Given the description of an element on the screen output the (x, y) to click on. 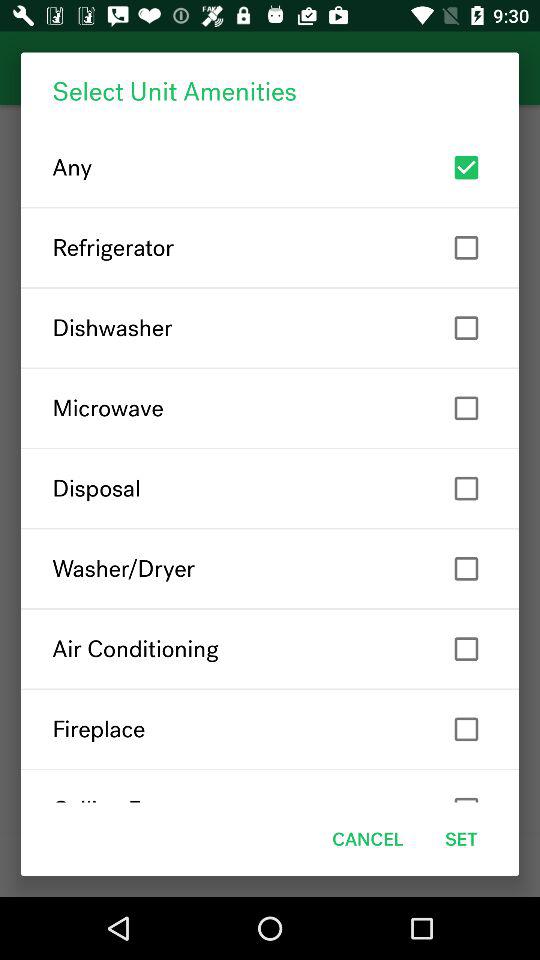
launch the item above the ceiling fan item (270, 729)
